Given the description of an element on the screen output the (x, y) to click on. 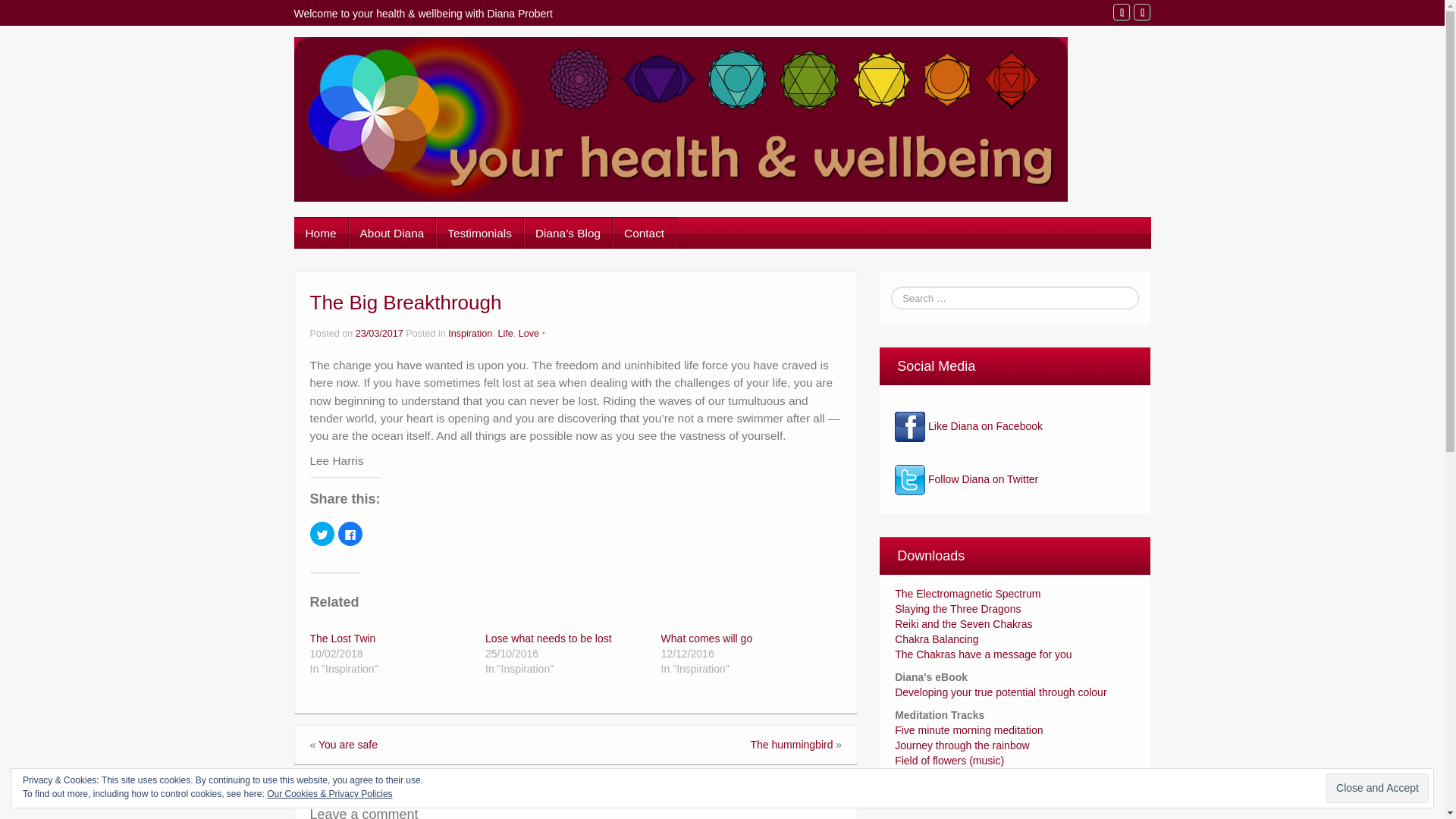
Follow Diana on Twitter (966, 489)
Lose what needs to be lost (547, 638)
Like Diana on Facebook (968, 437)
Testimonials (478, 232)
Journey through the rainbow (962, 745)
Your Health and Wellbeing Twitter (1142, 12)
Love (528, 333)
Inspiration (470, 333)
Chakra Balancing (936, 639)
Developing your true potential through colour (1000, 692)
